Given the description of an element on the screen output the (x, y) to click on. 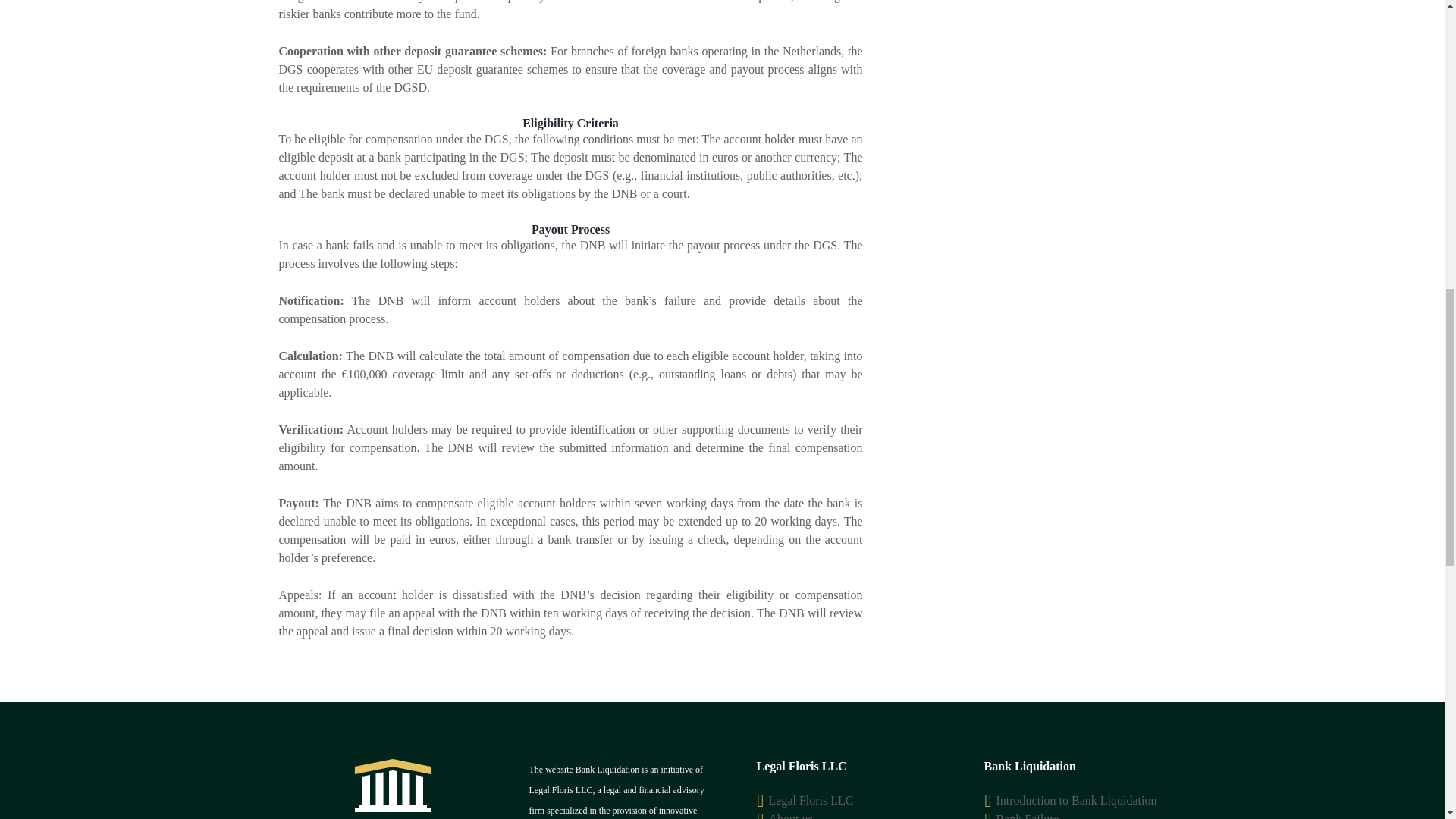
Bank Failure (1027, 816)
Legal Floris LLC (810, 799)
Introduction to Bank Liquidation (1076, 799)
About us (790, 816)
